Given the description of an element on the screen output the (x, y) to click on. 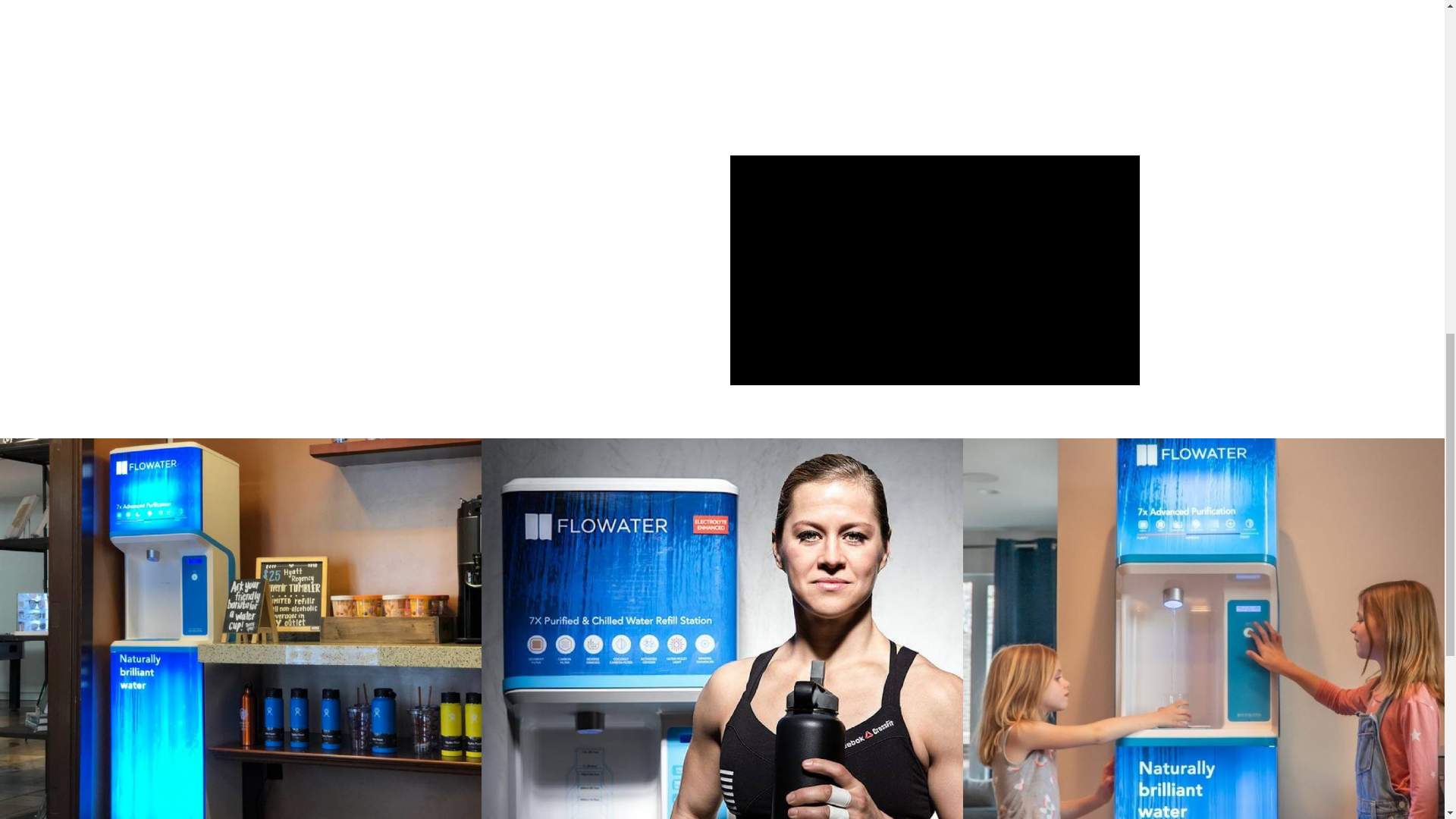
vimeo Video Player (933, 270)
